Given the description of an element on the screen output the (x, y) to click on. 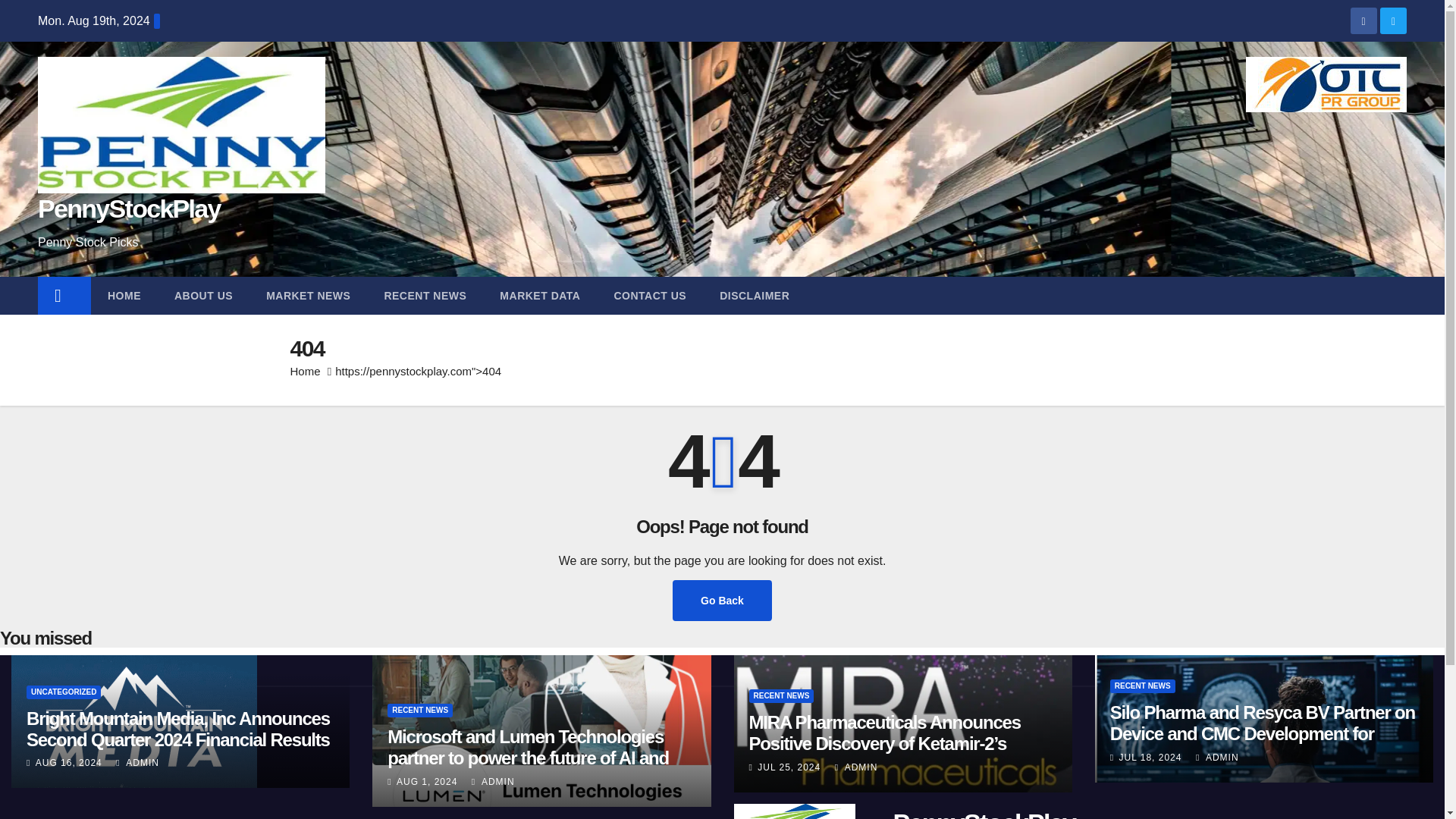
RECENT NEWS (424, 295)
Home (63, 295)
MARKET DATA (539, 295)
PennyStockPlay (984, 813)
ABOUT US (202, 295)
AUG 1, 2024 (426, 781)
